Given the description of an element on the screen output the (x, y) to click on. 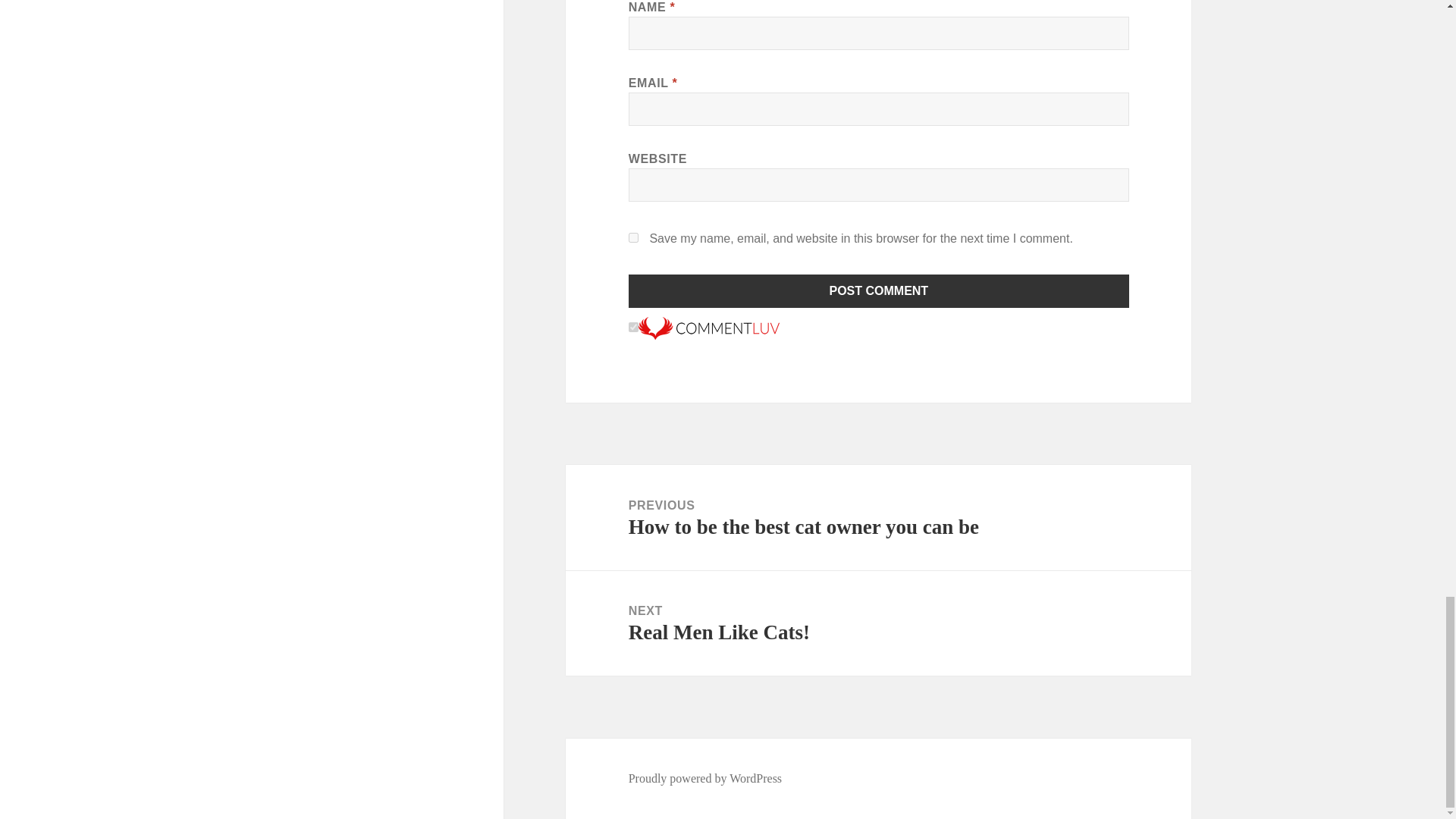
on (633, 327)
Post Comment (878, 290)
yes (633, 237)
CommentLuv is enabled (878, 623)
Proudly powered by WordPress (708, 326)
Post Comment (704, 778)
